Given the description of an element on the screen output the (x, y) to click on. 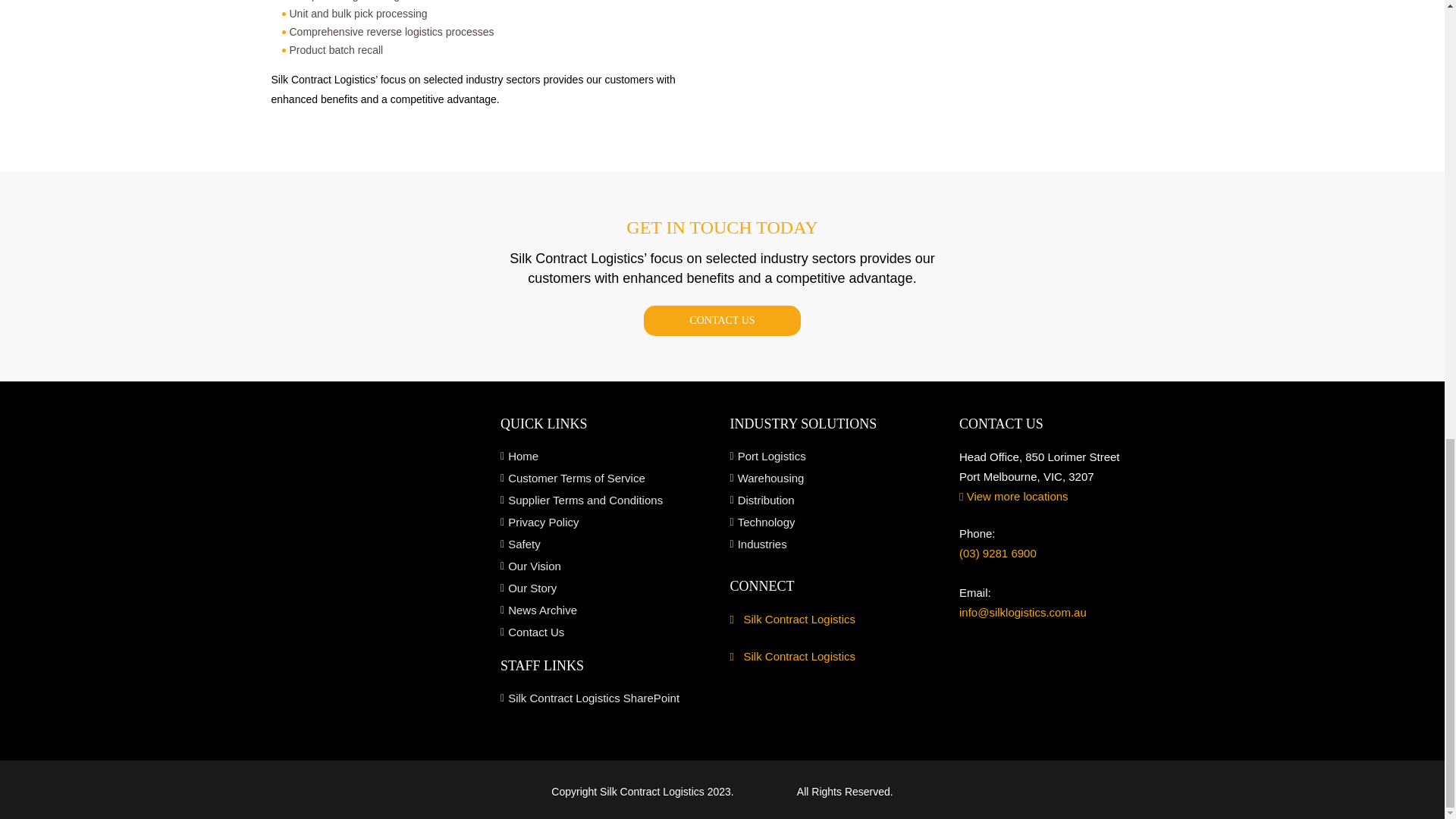
Privacy Policy (607, 522)
Customer Terms of Service (607, 478)
Home (607, 456)
Our Vision (607, 566)
Supplier Terms and Conditions (607, 500)
CONTACT US (721, 320)
Safety (607, 544)
